Given the description of an element on the screen output the (x, y) to click on. 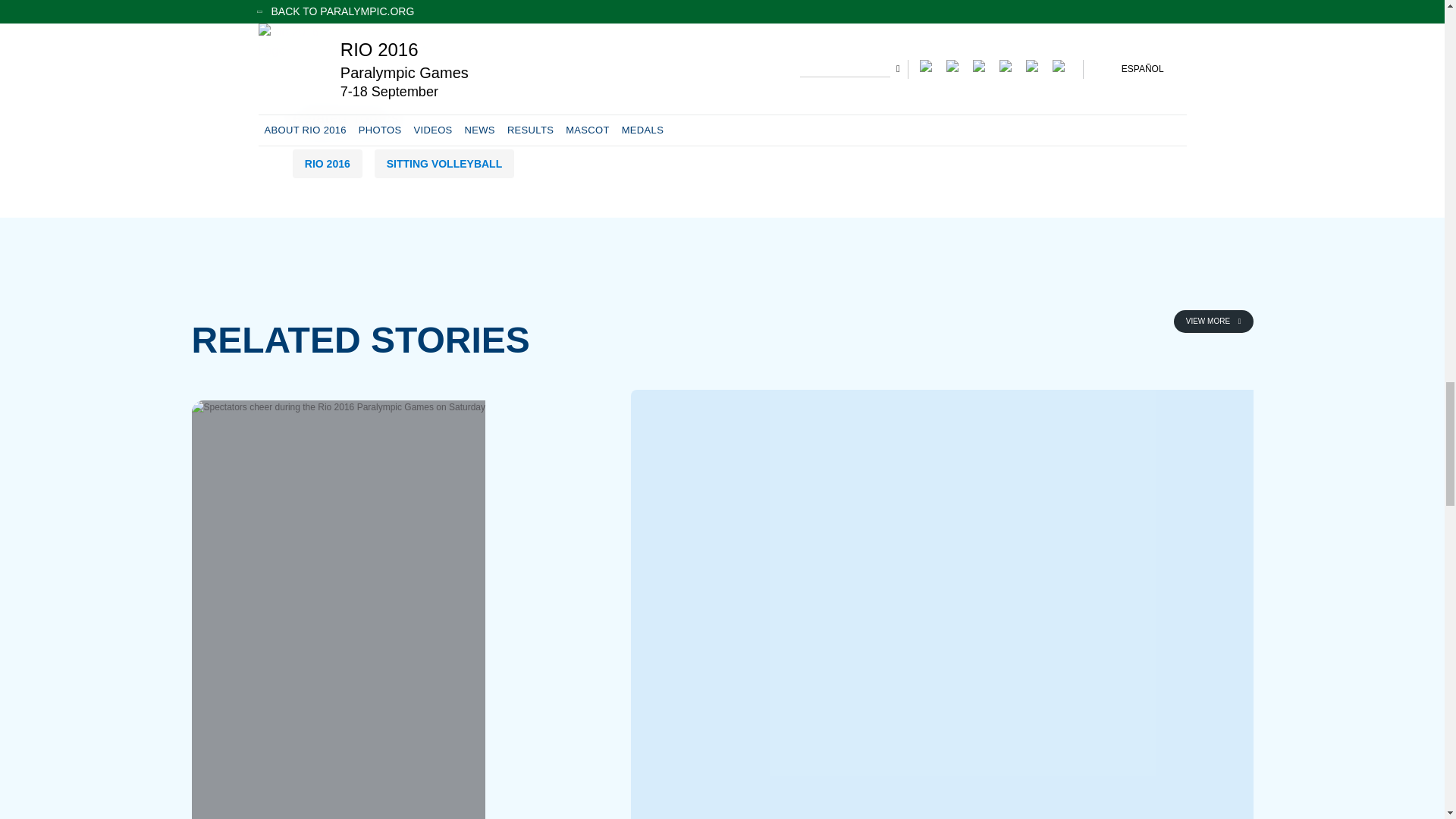
VIEW MORE (1213, 321)
More (1213, 321)
SITTING VOLLEYBALL (443, 163)
RIO 2016 (327, 163)
